Given the description of an element on the screen output the (x, y) to click on. 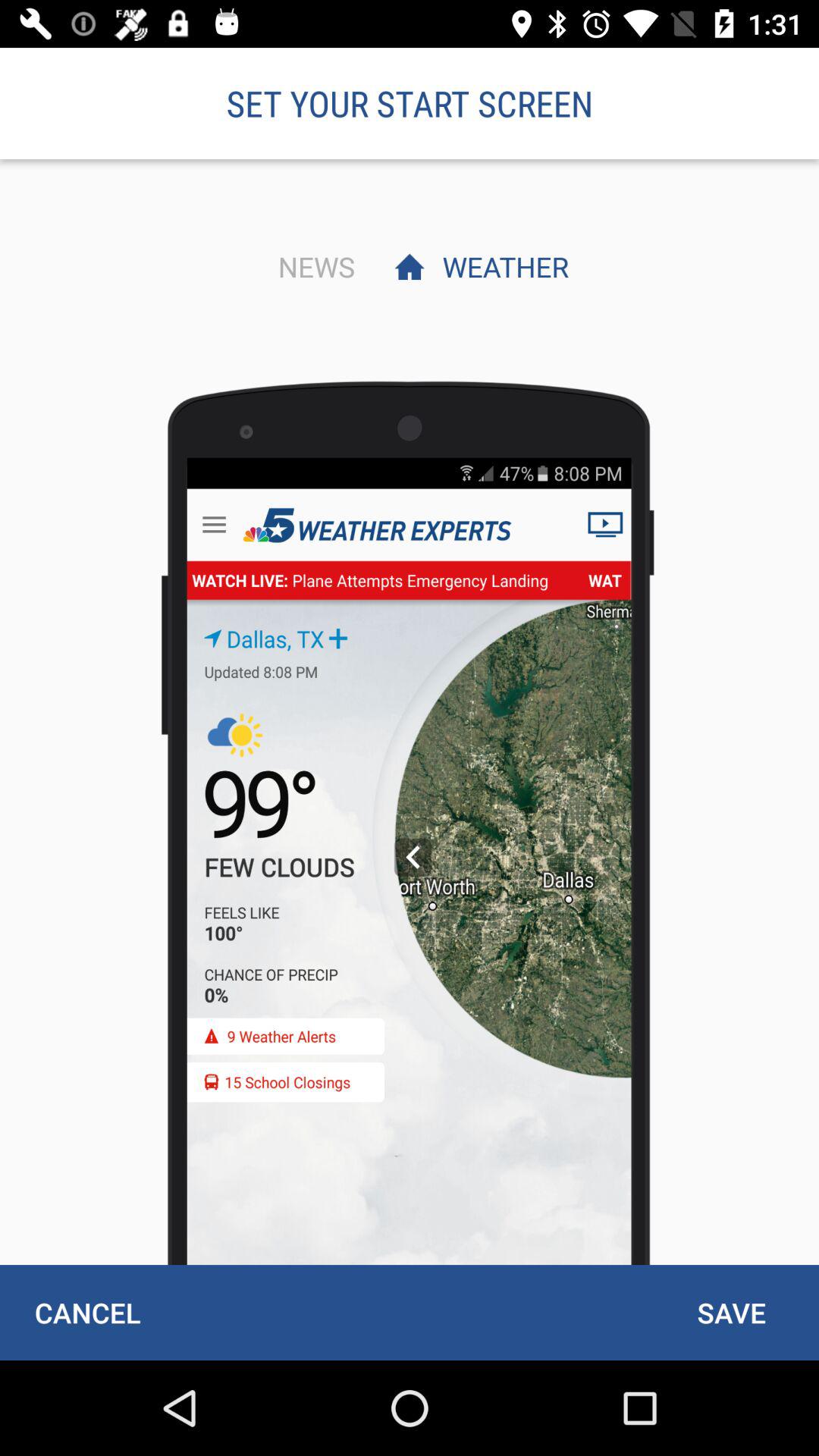
scroll to save item (731, 1312)
